Given the description of an element on the screen output the (x, y) to click on. 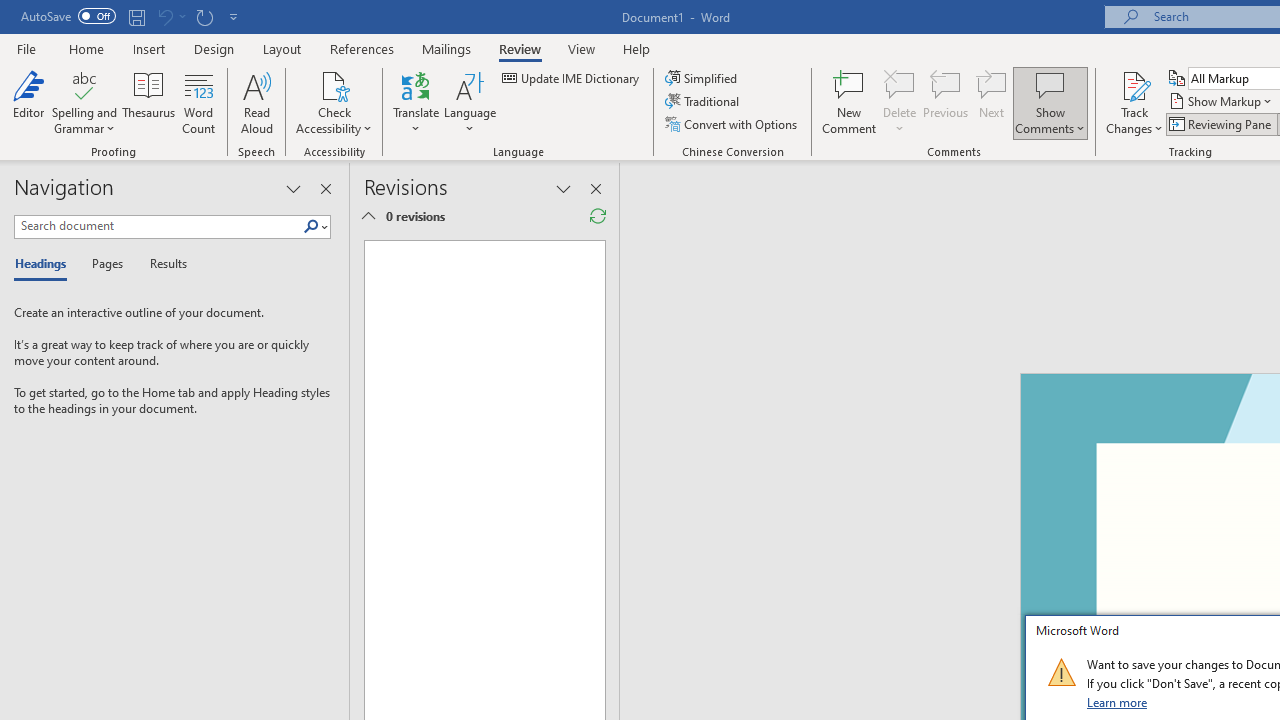
Read Aloud (256, 102)
Track Changes (1134, 102)
Check Accessibility (334, 102)
Simplified (702, 78)
Next (991, 102)
Save (136, 15)
Search (315, 227)
Language (470, 102)
Task Pane Options (293, 188)
Spelling and Grammar (84, 102)
Class: NetUIImage (1061, 671)
Translate (415, 102)
Thesaurus... (148, 102)
Review (520, 48)
